Given the description of an element on the screen output the (x, y) to click on. 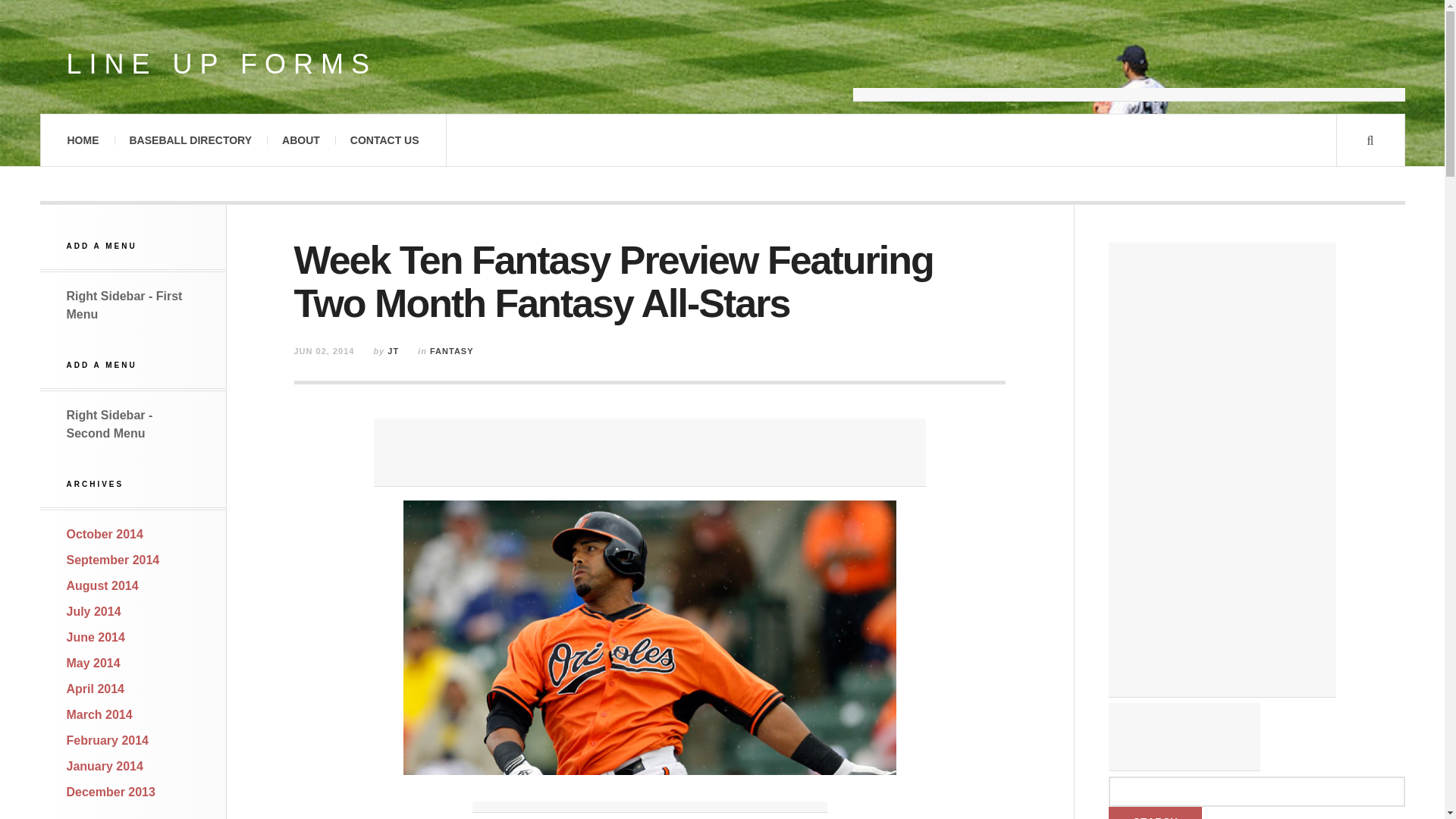
April 2014 (94, 688)
June 2014 (95, 636)
HOME (81, 140)
Advertisement (1128, 64)
October 2014 (104, 533)
September 2014 (113, 559)
FANTASY (451, 350)
August 2014 (102, 585)
Right Sidebar - Second Menu (109, 423)
May 2014 (93, 662)
March 2014 (99, 714)
Advertisement (650, 452)
Advertisement (649, 811)
JT (392, 350)
BASEBALL DIRECTORY (189, 140)
